Given the description of an element on the screen output the (x, y) to click on. 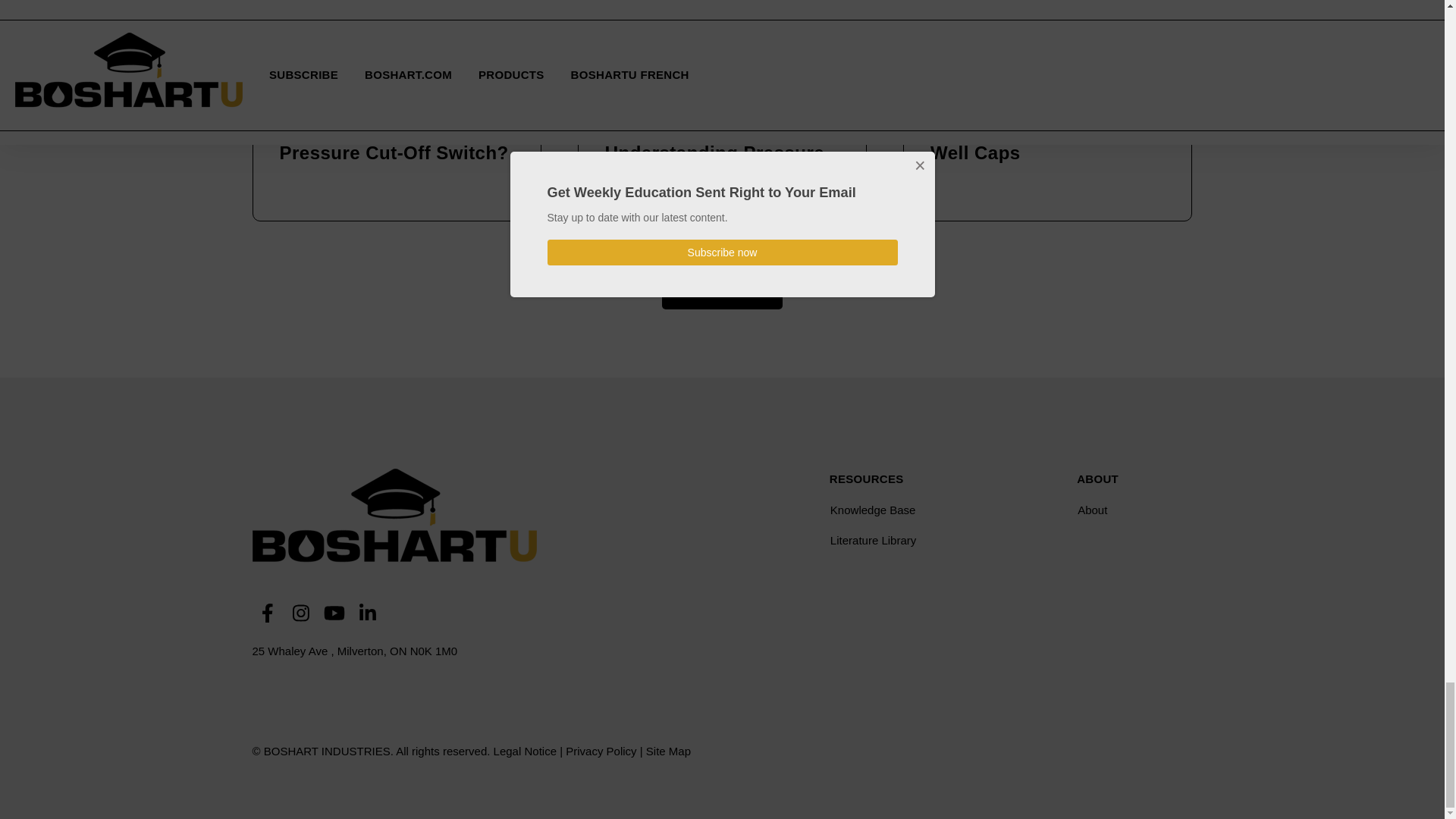
Knowledge Base (927, 509)
ABOUT (1097, 479)
RESOURCES (866, 479)
About (1133, 509)
Site Map (668, 750)
Legal Notice (524, 750)
Literature Library (927, 540)
Privacy Policy (601, 750)
Learn More (722, 287)
